Given the description of an element on the screen output the (x, y) to click on. 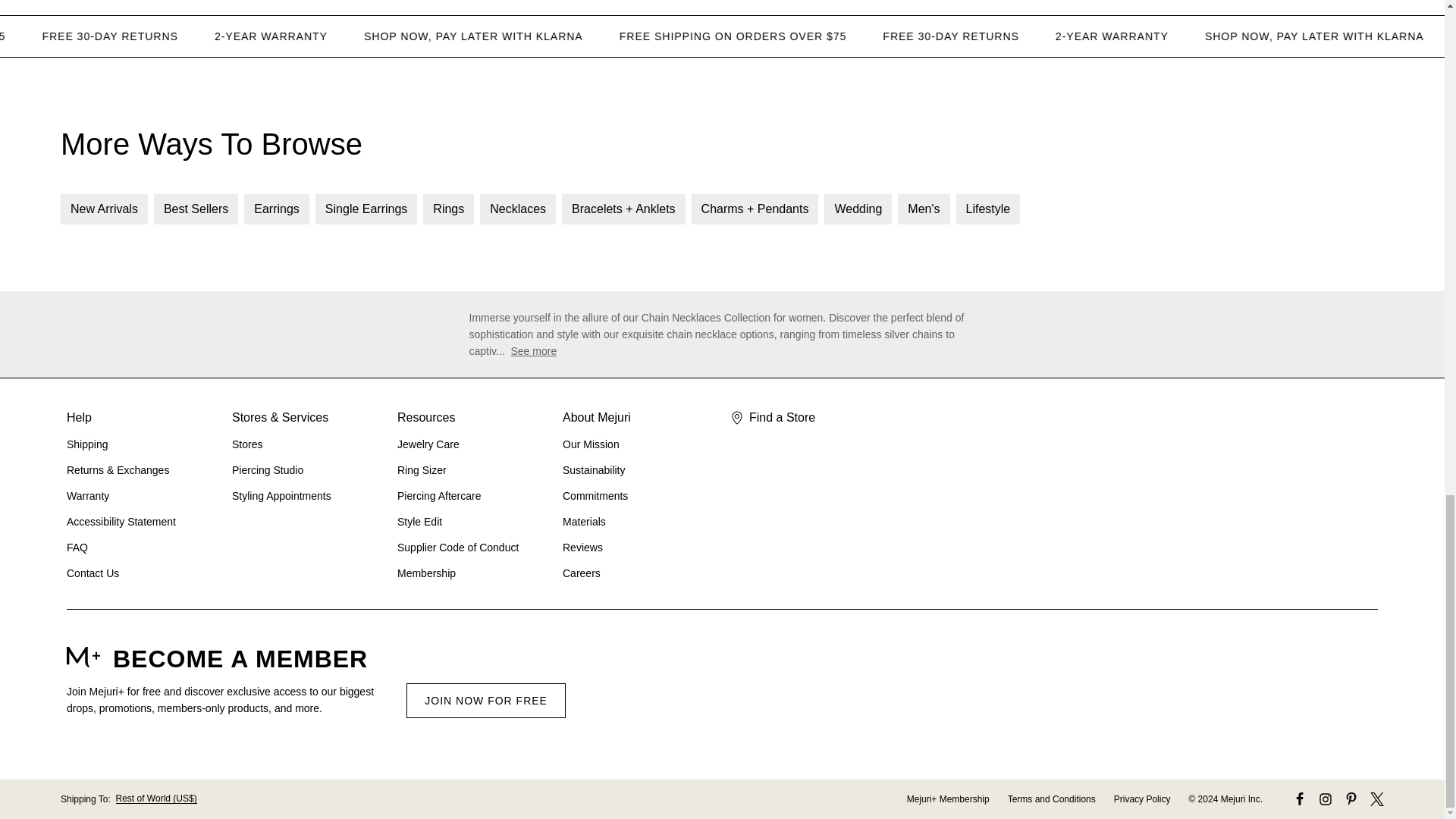
Instagram (1325, 798)
Twitter (1377, 798)
Facebook (1299, 798)
Pinterest (1350, 798)
